Given the description of an element on the screen output the (x, y) to click on. 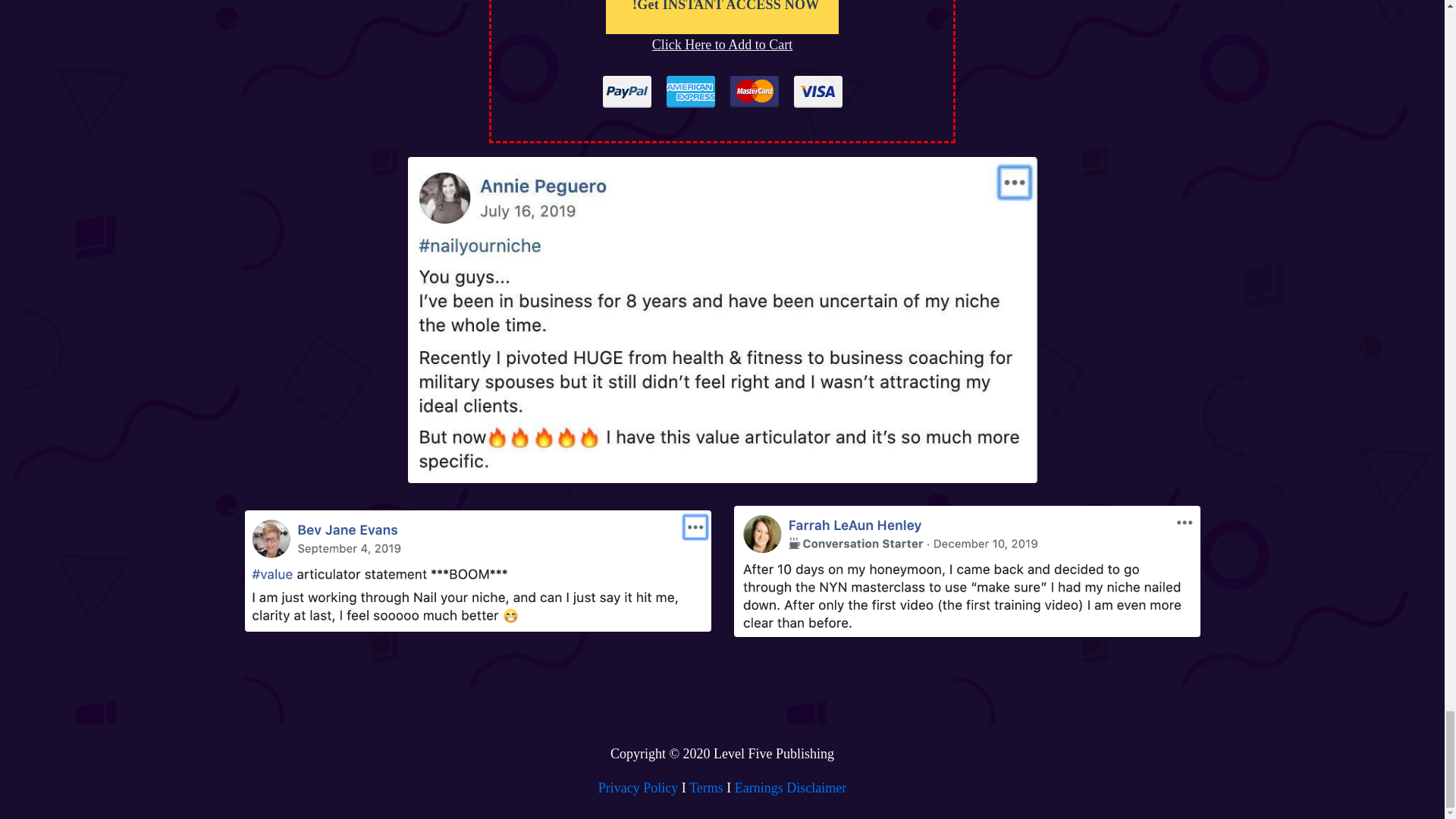
Click Here to Add to Cart (722, 44)
Privacy Policy (638, 787)
Get INSTANT ACCESS NOW!   (721, 17)
Terms (705, 787)
Earnings Disclaimer (790, 787)
Get INSTANT ACCESS NOW! (725, 6)
